Given the description of an element on the screen output the (x, y) to click on. 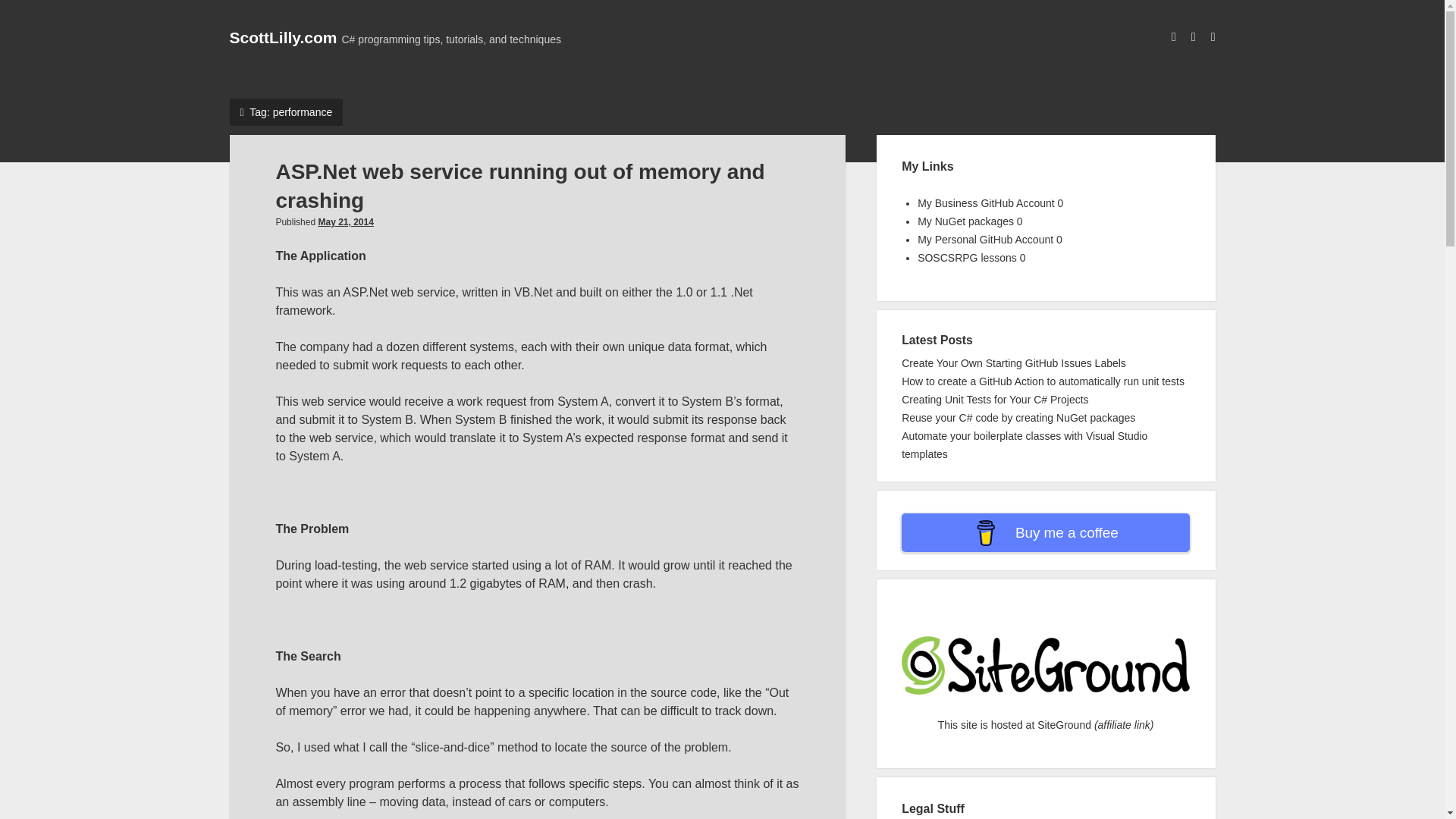
My Personal GitHub Account (984, 239)
My Business GitHub Account (985, 203)
ScottLilly.com (282, 36)
Buy me a coffee (1045, 532)
My NuGet packages (965, 221)
ASP.Net web service running out of memory and crashing (519, 185)
SOSCSRPG lessons (966, 257)
May 21, 2014 (344, 222)
Create Your Own Starting GitHub Issues Labels (1013, 363)
